Given the description of an element on the screen output the (x, y) to click on. 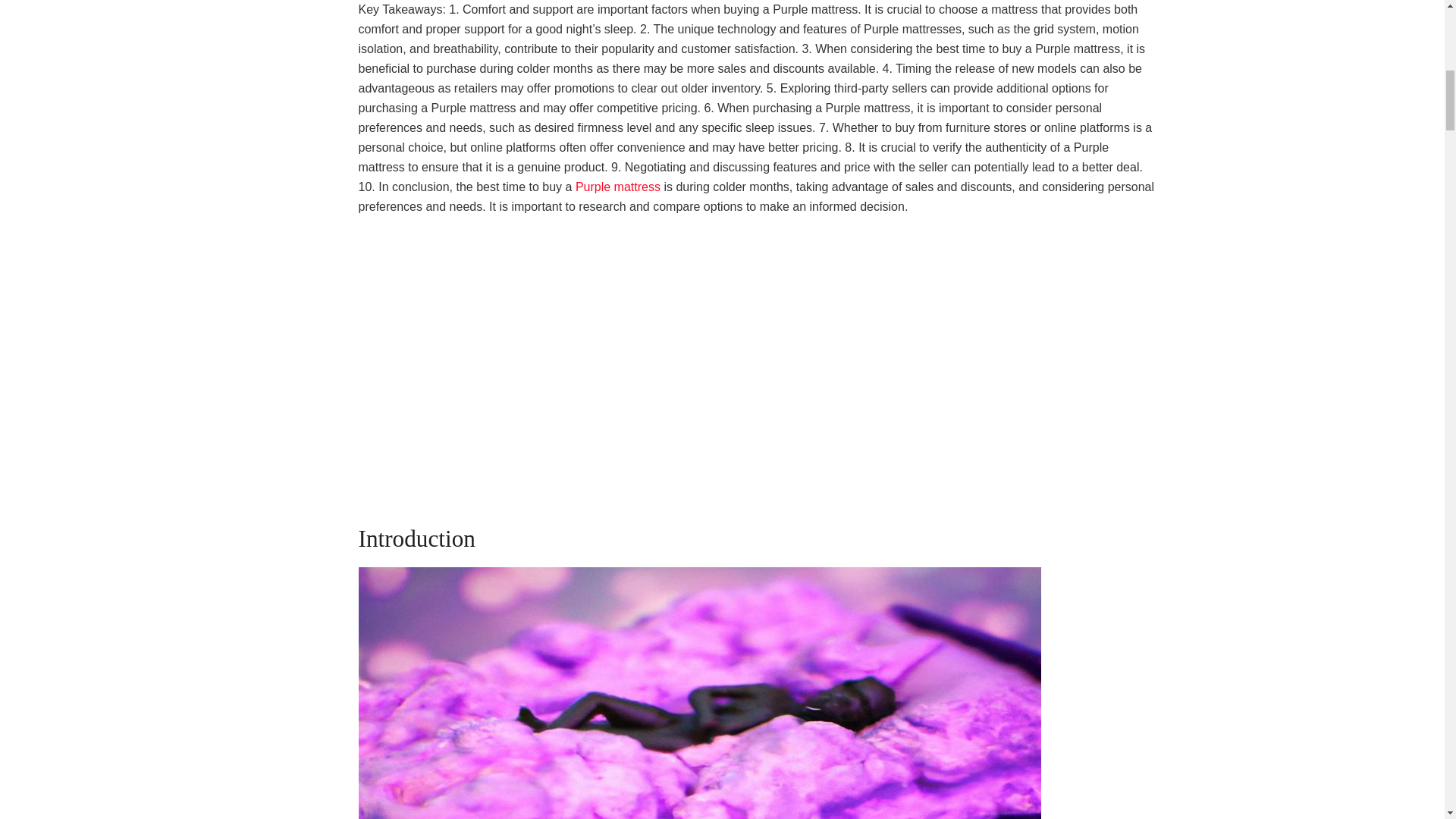
Purple mattress (618, 186)
